Given the description of an element on the screen output the (x, y) to click on. 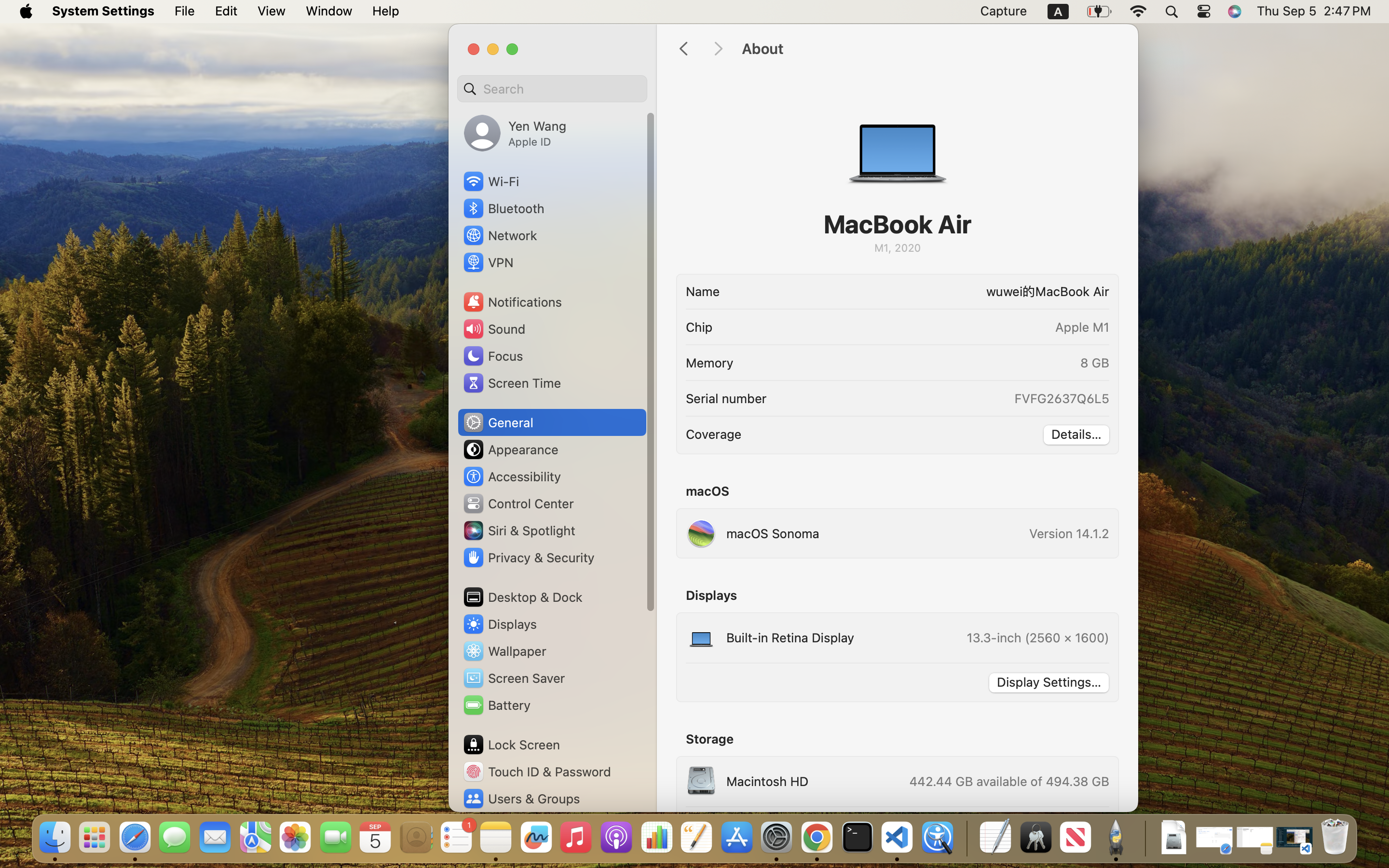
Users & Groups Element type: AXStaticText (520, 798)
Name Element type: AXStaticText (702, 290)
